Given the description of an element on the screen output the (x, y) to click on. 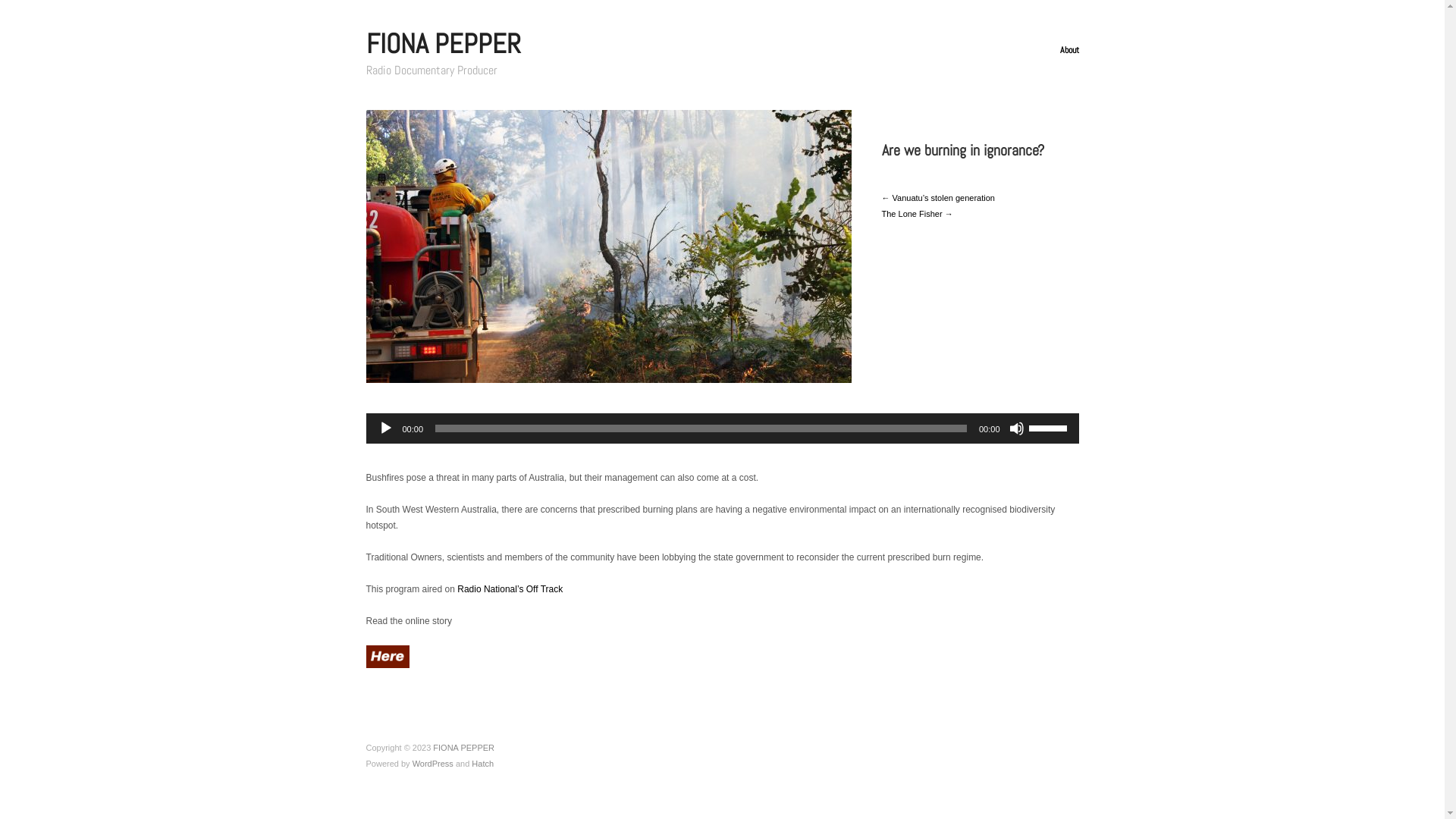
WordPress Element type: text (432, 763)
FIONA PEPPER Element type: text (463, 747)
Use Up/Down Arrow keys to increase or decrease volume. Element type: text (1049, 426)
Play Element type: hover (384, 428)
Hatch Element type: text (482, 763)
Mute Element type: hover (1015, 428)
About Element type: text (1069, 49)
FIONA PEPPER Element type: text (442, 43)
